Given the description of an element on the screen output the (x, y) to click on. 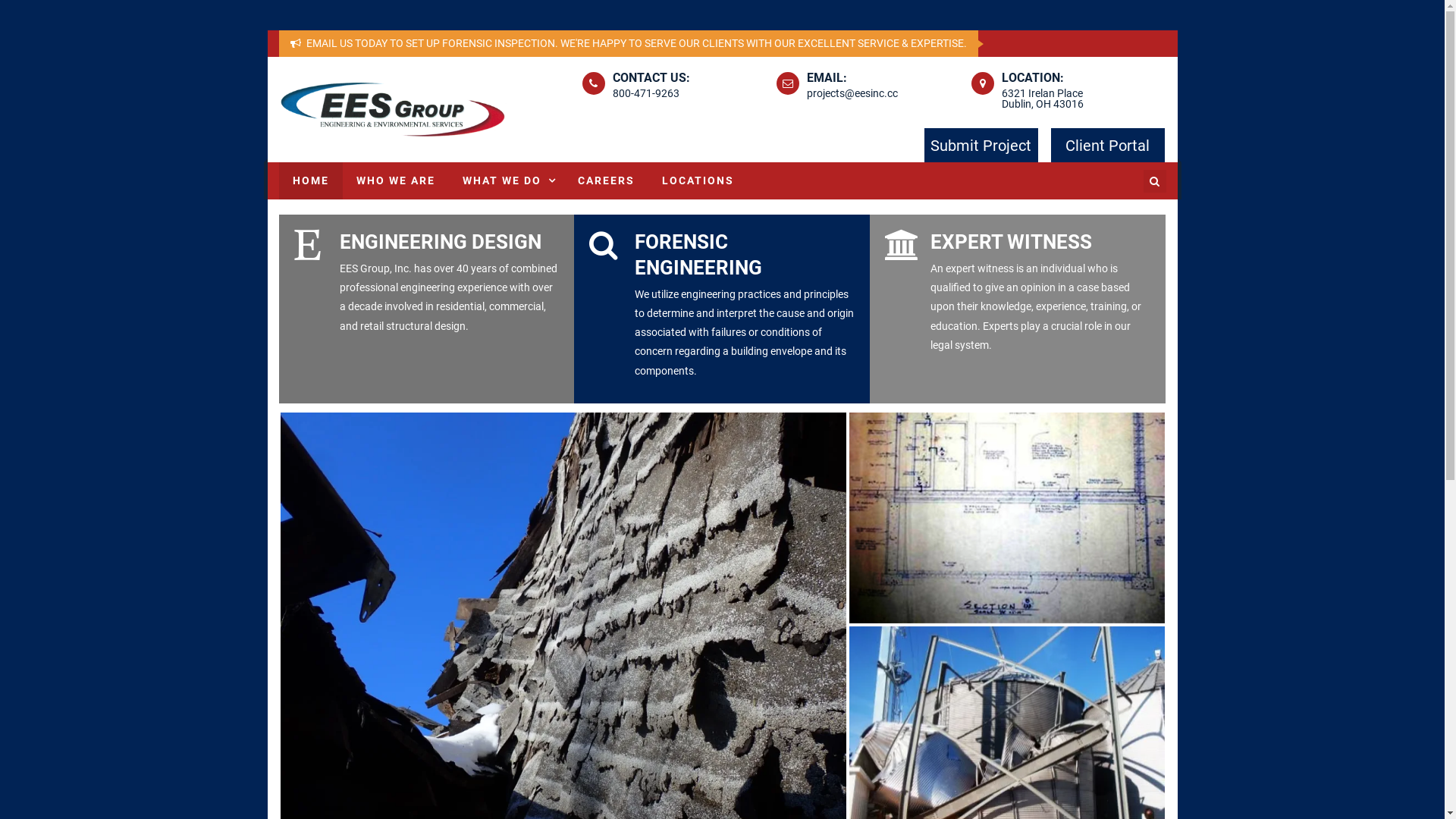
Search Element type: text (1139, 243)
ENGINEERING DESIGN Element type: text (440, 241)
FORENSIC ENGINEERING Element type: text (698, 254)
projects@eesinc.cc Element type: text (851, 93)
HOME Element type: text (310, 180)
WHO WE ARE Element type: text (395, 180)
LOCATIONS Element type: text (696, 180)
800-471-9263 Element type: text (645, 93)
EXPERT WITNESS Element type: text (1011, 241)
Client Portal Element type: text (1107, 145)
6321 Irelan Place Dublin, OH 43016 Element type: text (1042, 98)
CAREERS Element type: text (606, 180)
Submit Project Element type: text (980, 145)
WHAT WE DO Element type: text (506, 180)
